Given the description of an element on the screen output the (x, y) to click on. 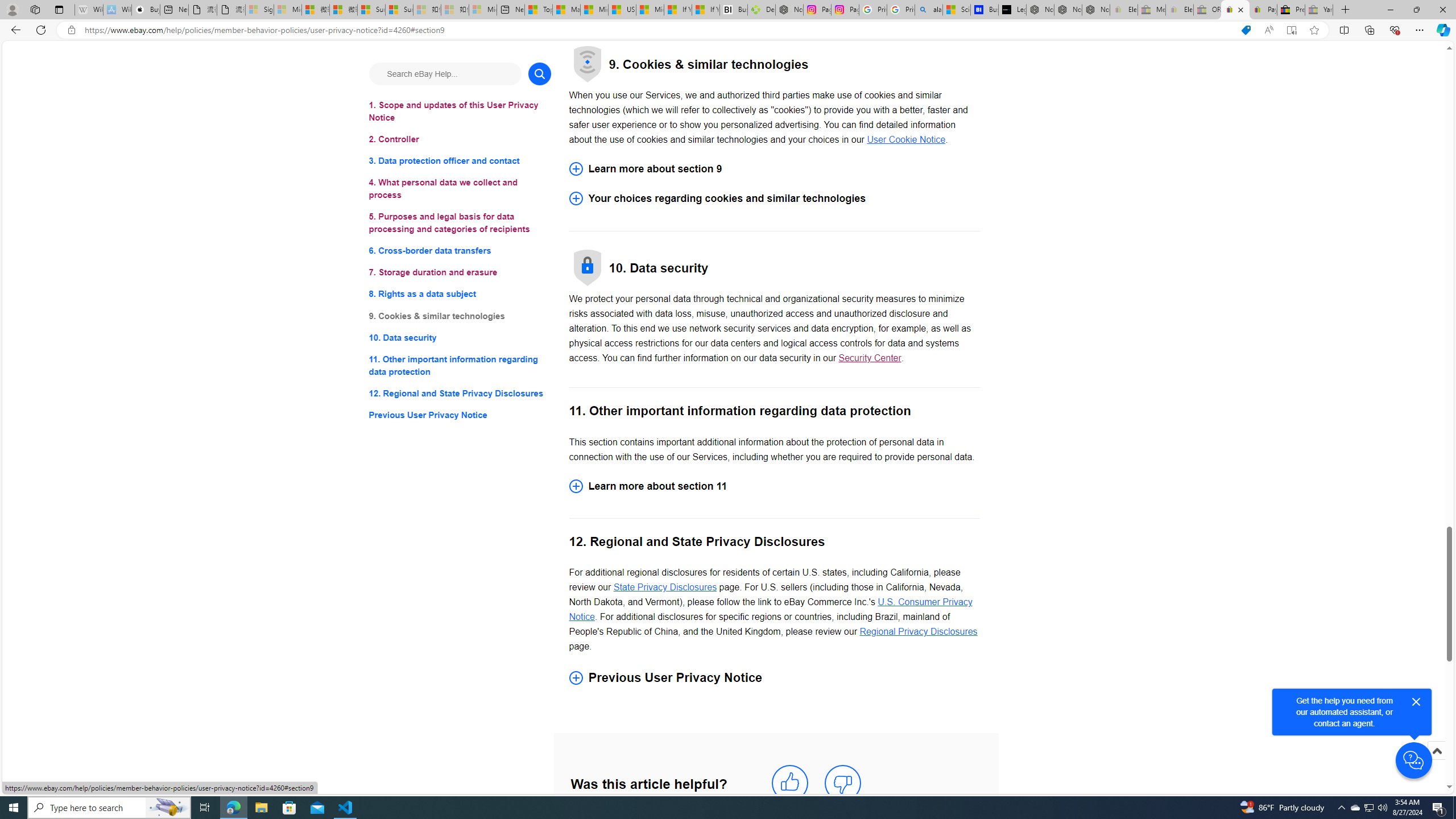
3. Data protection officer and contact (459, 160)
Microsoft Services Agreement - Sleeping (288, 9)
Learn more about section 11 (774, 485)
mark this article not helpful (842, 782)
11. Other important information regarding data protection (459, 365)
Learn more about section 9 (774, 169)
2. Controller (459, 138)
U.S. Consumer Privacy Notice - opens in new window or tab (770, 609)
